Given the description of an element on the screen output the (x, y) to click on. 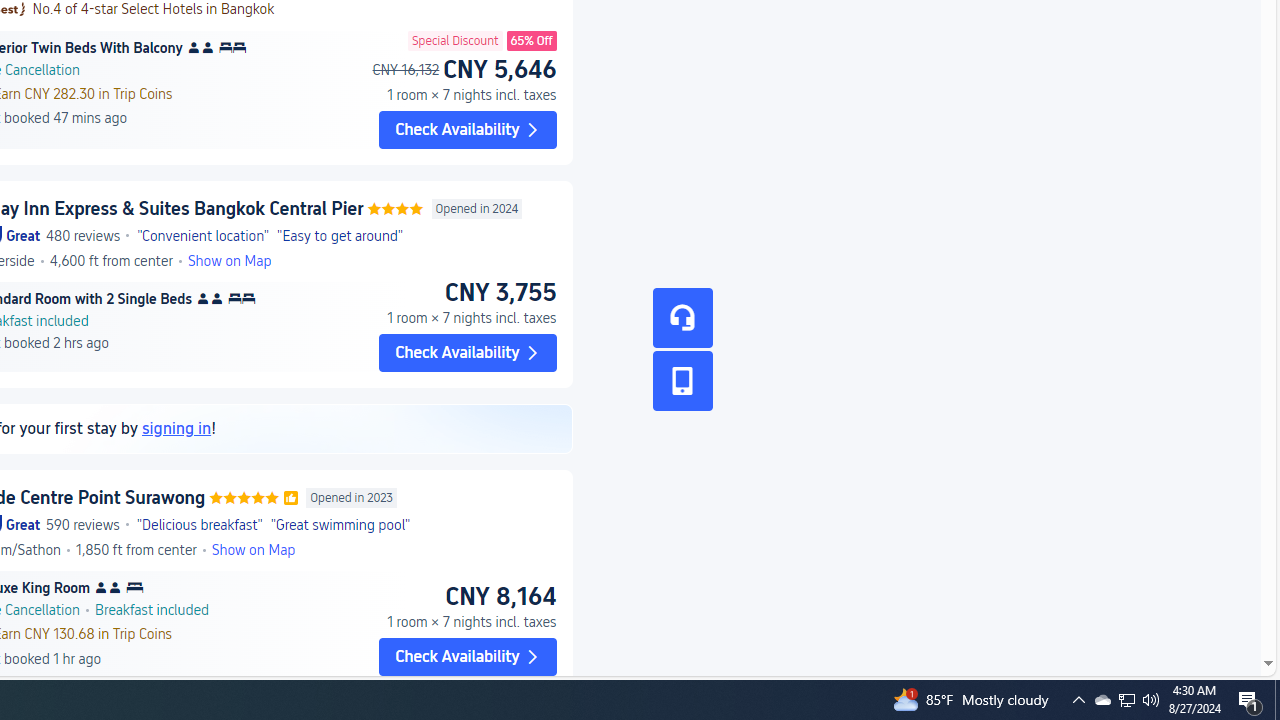
App (681, 381)
480 reviews (83, 235)
590 reviews (82, 524)
